Given the description of an element on the screen output the (x, y) to click on. 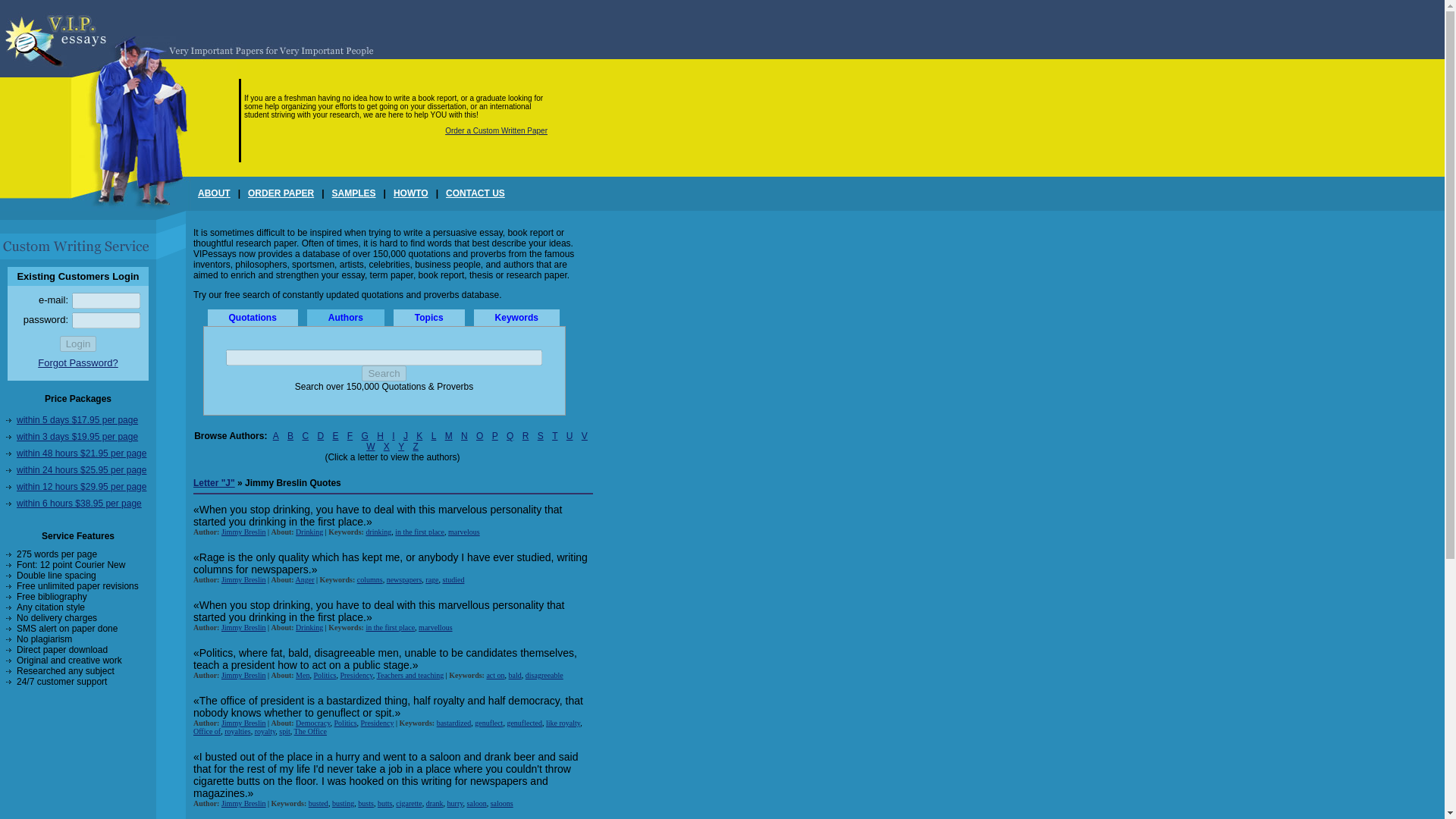
Topics (428, 317)
Quotations (253, 317)
ABOUT (214, 193)
HOWTO (410, 193)
Search (383, 373)
Authors (345, 317)
SAMPLES (353, 193)
Keywords (516, 317)
ORDER PAPER (280, 193)
Order a Custom Written Paper (496, 130)
